Given the description of an element on the screen output the (x, y) to click on. 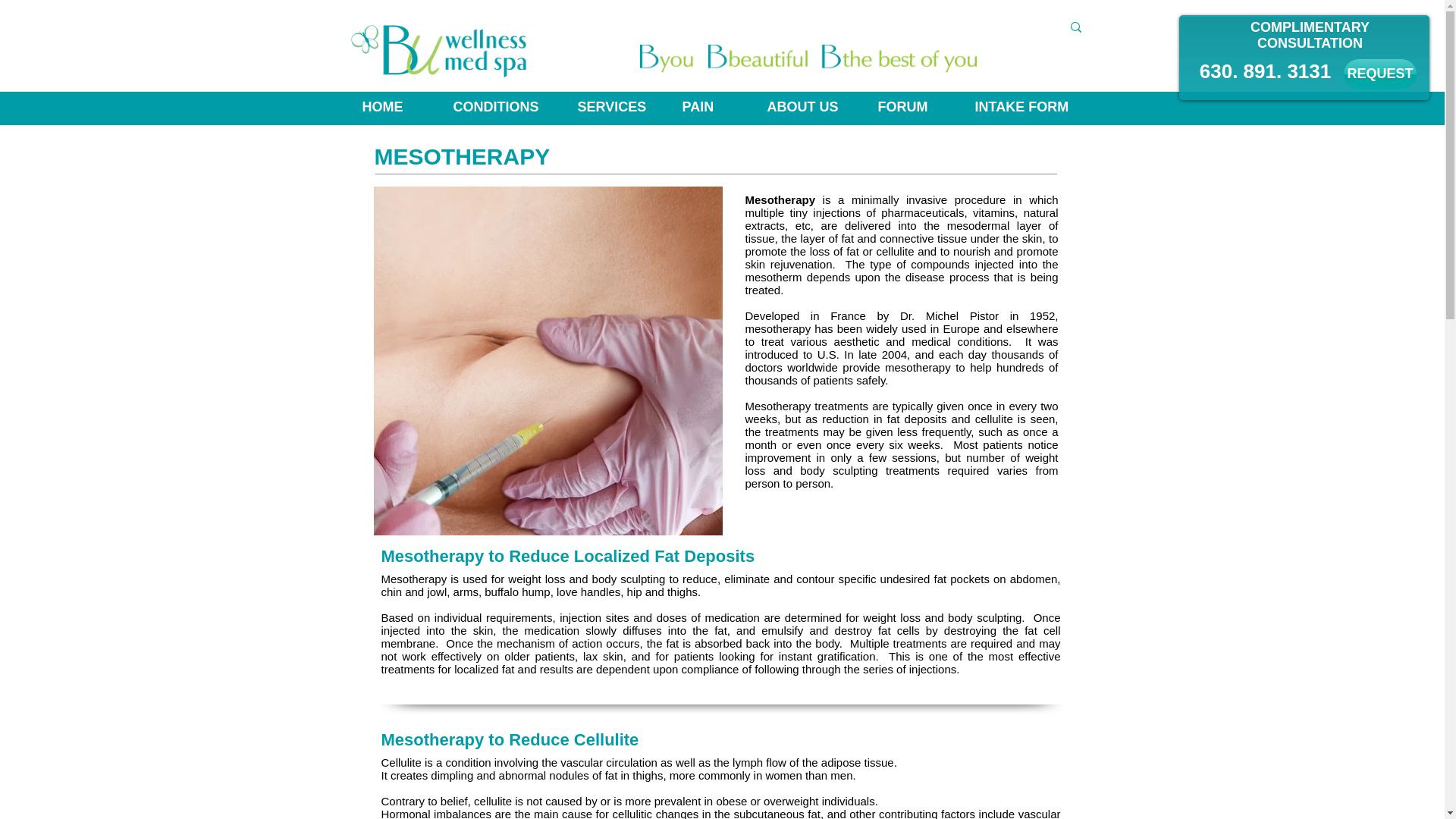
HOME (395, 107)
COMPLIMENTARY CONSULTATION (1310, 34)
BU Wellness Mesotherapy (547, 360)
REQUEST (1379, 73)
